Given the description of an element on the screen output the (x, y) to click on. 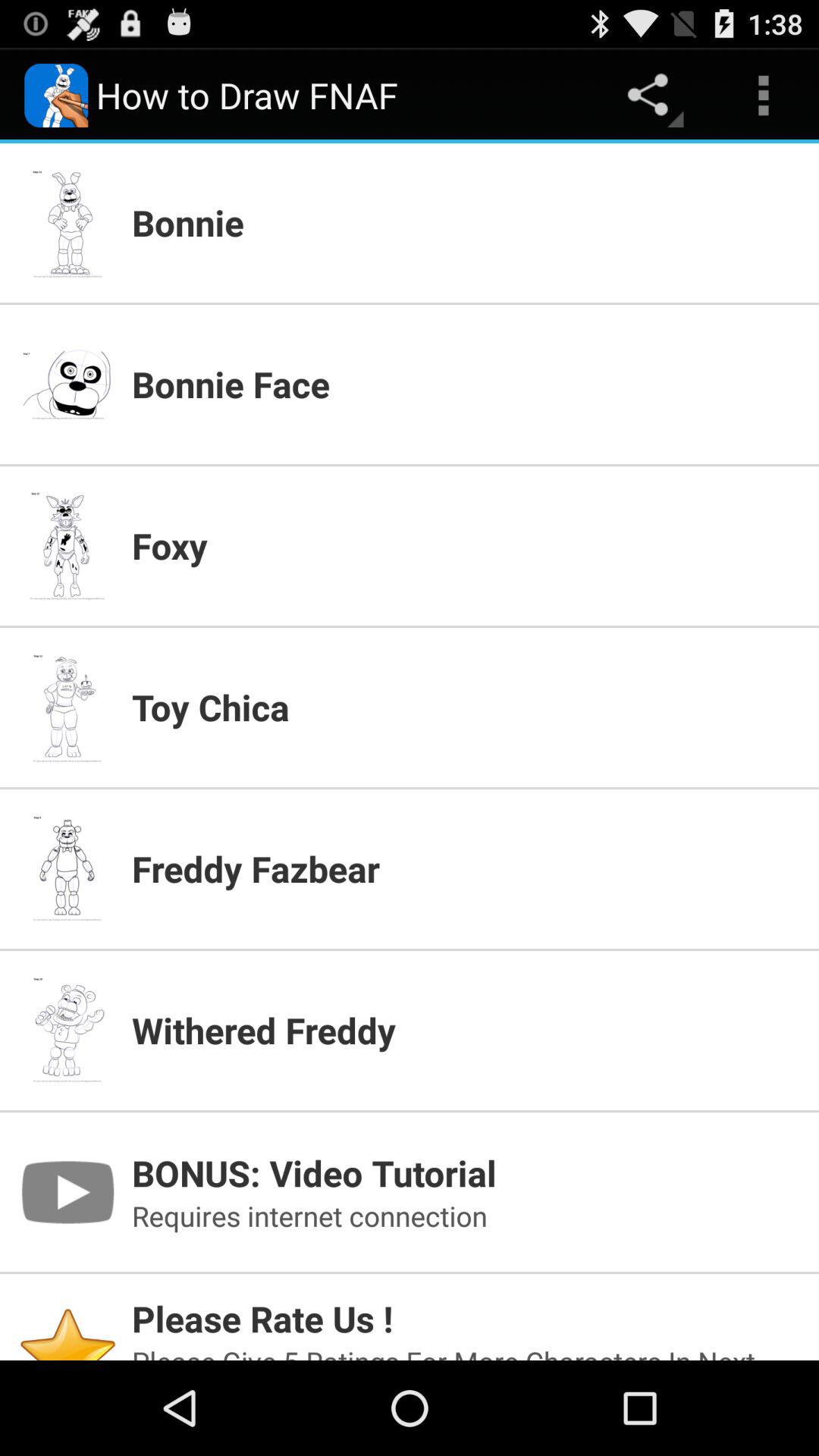
turn off the item above bonnie item (763, 95)
